Given the description of an element on the screen output the (x, y) to click on. 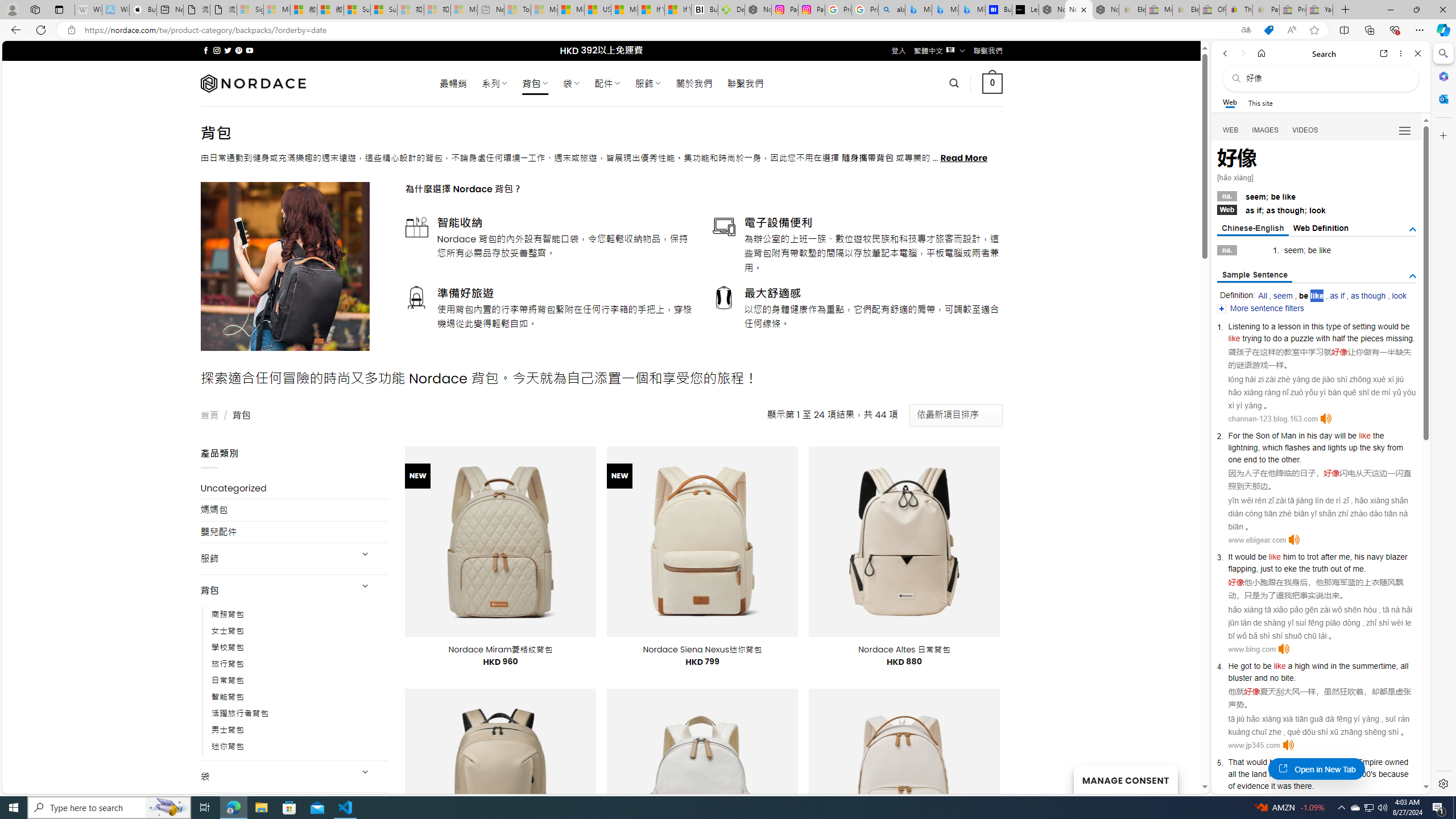
out (1335, 568)
saying (1305, 761)
, (1397, 665)
AutomationID: tgdef (1412, 229)
Microsoft Bing Travel - Shangri-La Hotel Bangkok (971, 9)
bluster (1239, 677)
this (1316, 325)
lightning (1242, 447)
